Given the description of an element on the screen output the (x, y) to click on. 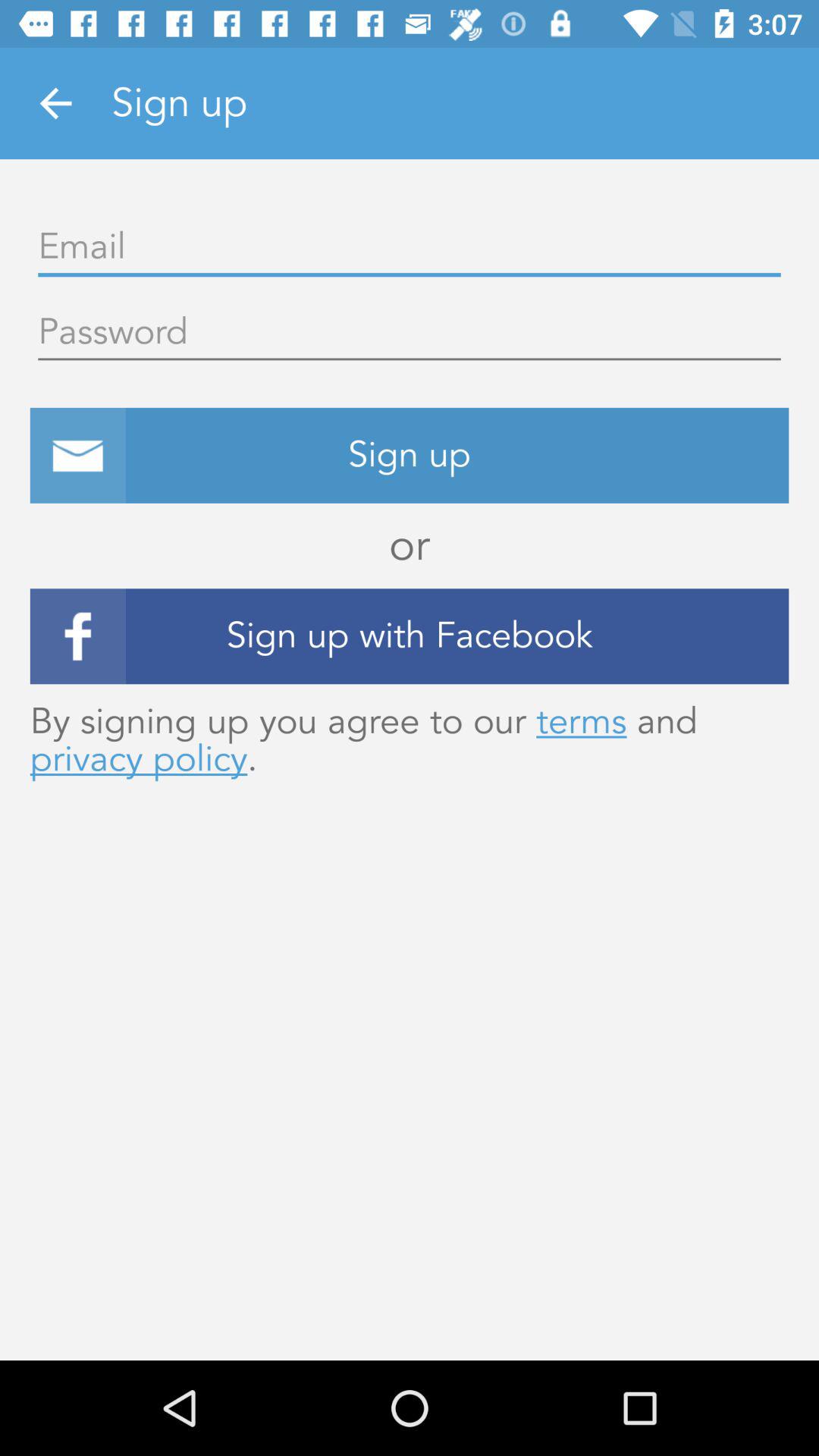
press the item next to the sign up icon (55, 103)
